Given the description of an element on the screen output the (x, y) to click on. 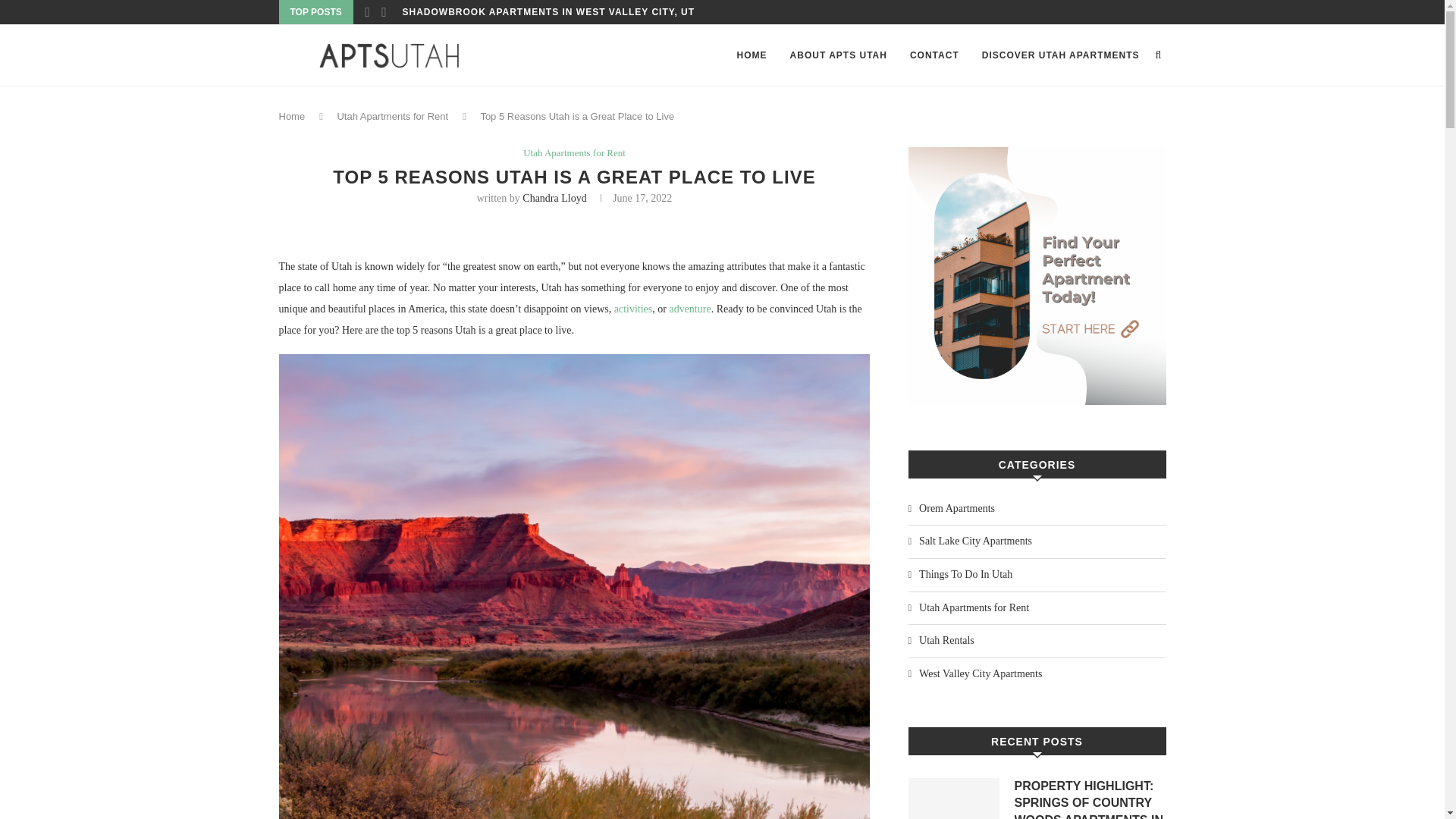
HOME (751, 55)
Utah Apartments for Rent (574, 152)
CONTACT (934, 55)
ABOUT APTS UTAH (838, 55)
Utah Apartments for Rent (392, 116)
SHADOWBROOK APARTMENTS IN WEST VALLEY CITY, UT (547, 12)
DISCOVER UTAH APARTMENTS (1060, 55)
Home (292, 116)
